Given the description of an element on the screen output the (x, y) to click on. 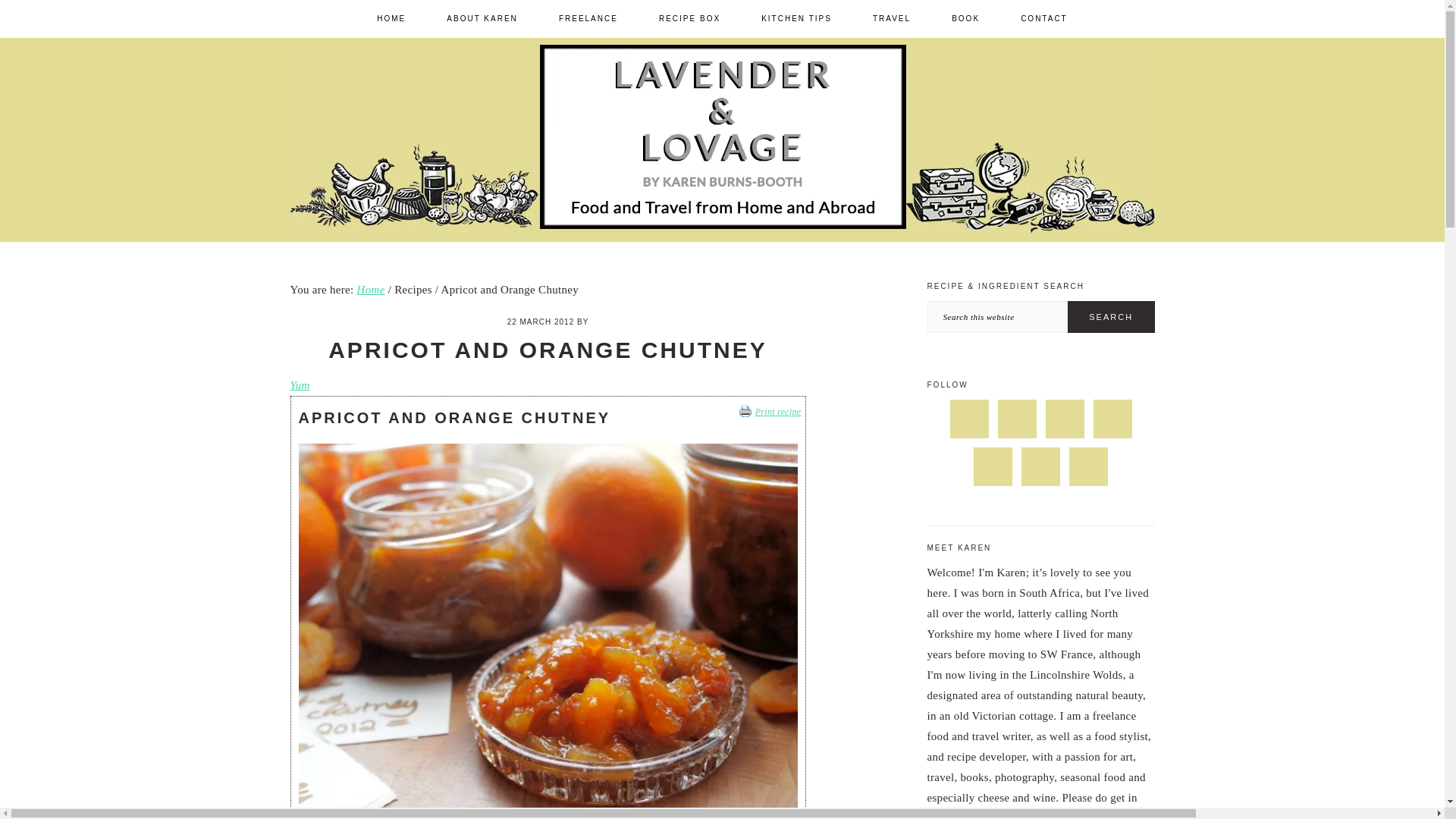
FREELANCE (588, 18)
CONTACT (1043, 18)
Home (370, 289)
KITCHEN TIPS (796, 18)
Print recipe (770, 412)
Search (1110, 316)
RECIPE BOX (689, 18)
LAVENDER AND LOVAGE (1011, 254)
Yum (298, 385)
